Given the description of an element on the screen output the (x, y) to click on. 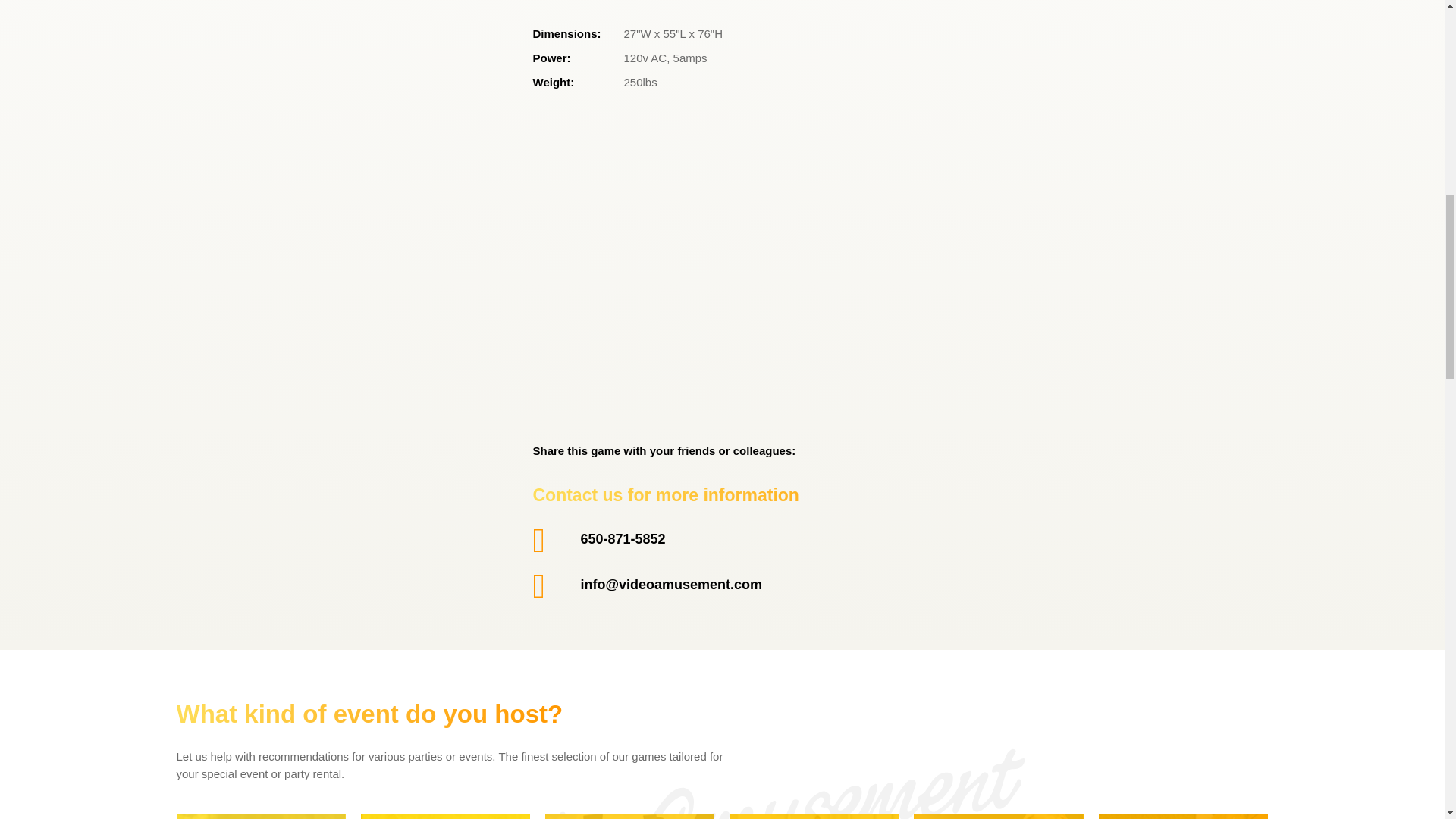
650-871-5852 (622, 539)
